Given the description of an element on the screen output the (x, y) to click on. 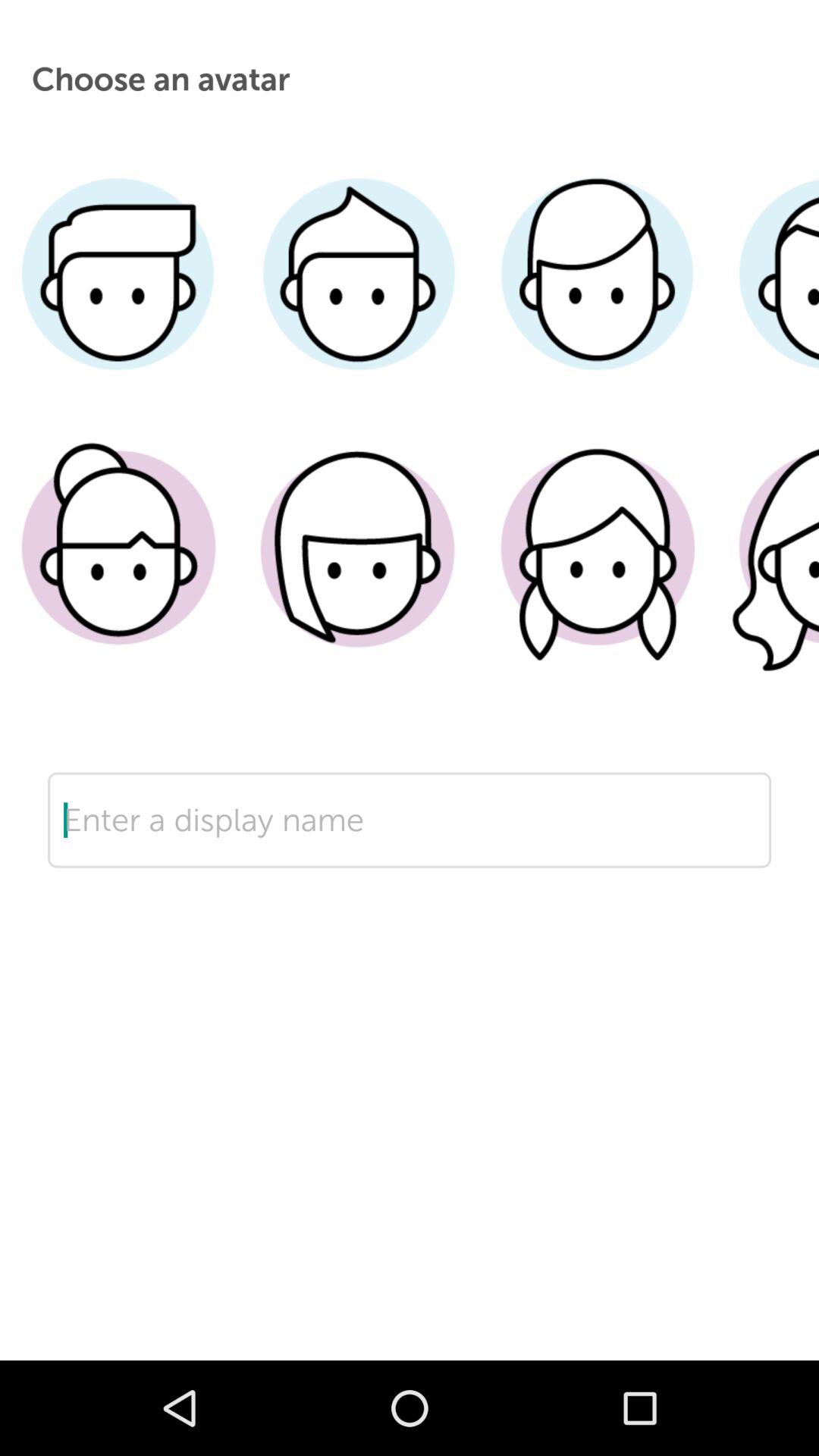
place to enter display name (409, 867)
